Given the description of an element on the screen output the (x, y) to click on. 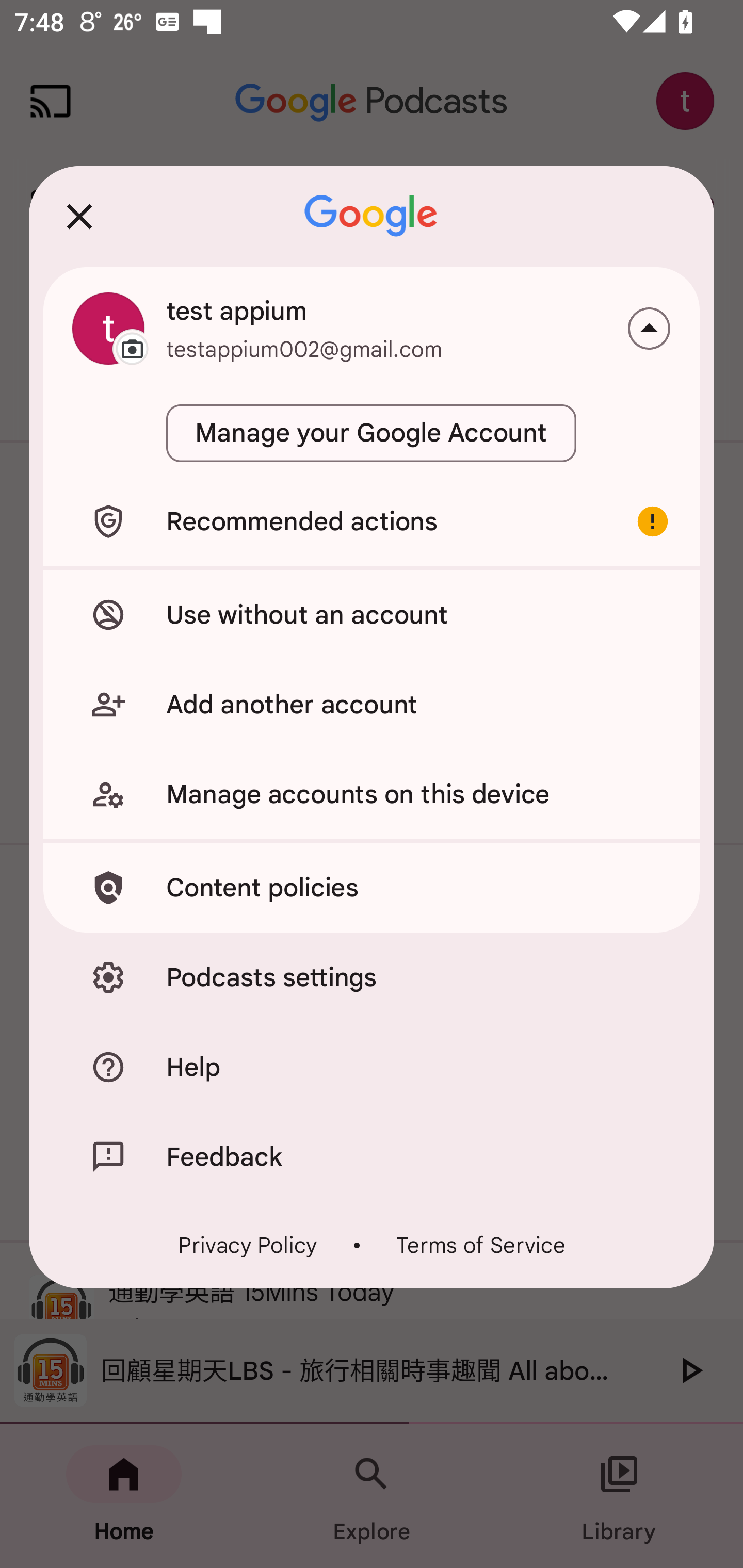
Close (79, 216)
Change profile picture. (108, 328)
Manage your Google Account (371, 433)
Recommended actions Important account alert (371, 521)
Use without an account (371, 614)
Add another account (371, 704)
Manage accounts on this device (371, 793)
Content policies (371, 887)
Privacy Policy (247, 1244)
Terms of Service (479, 1244)
